Given the description of an element on the screen output the (x, y) to click on. 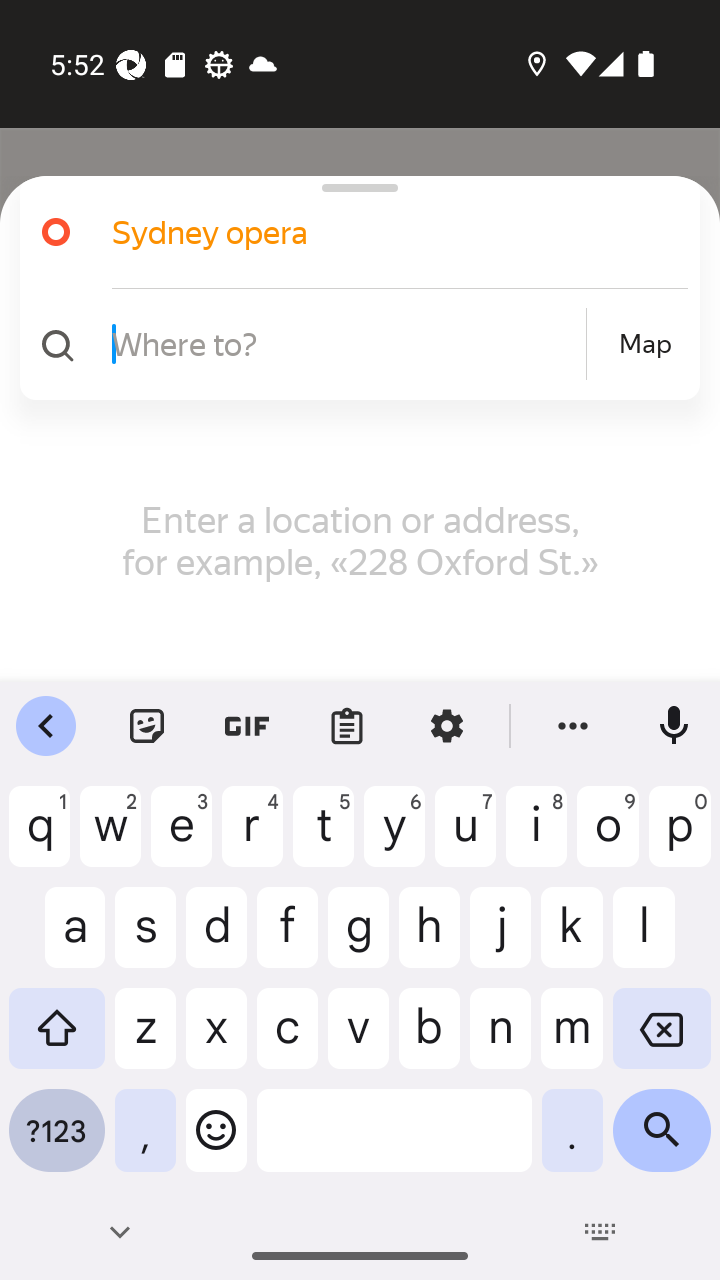
Sydney opera (352, 232)
Sydney opera (373, 232)
Where to? Map Map (352, 343)
Map (645, 343)
Where to? (346, 343)
